Given the description of an element on the screen output the (x, y) to click on. 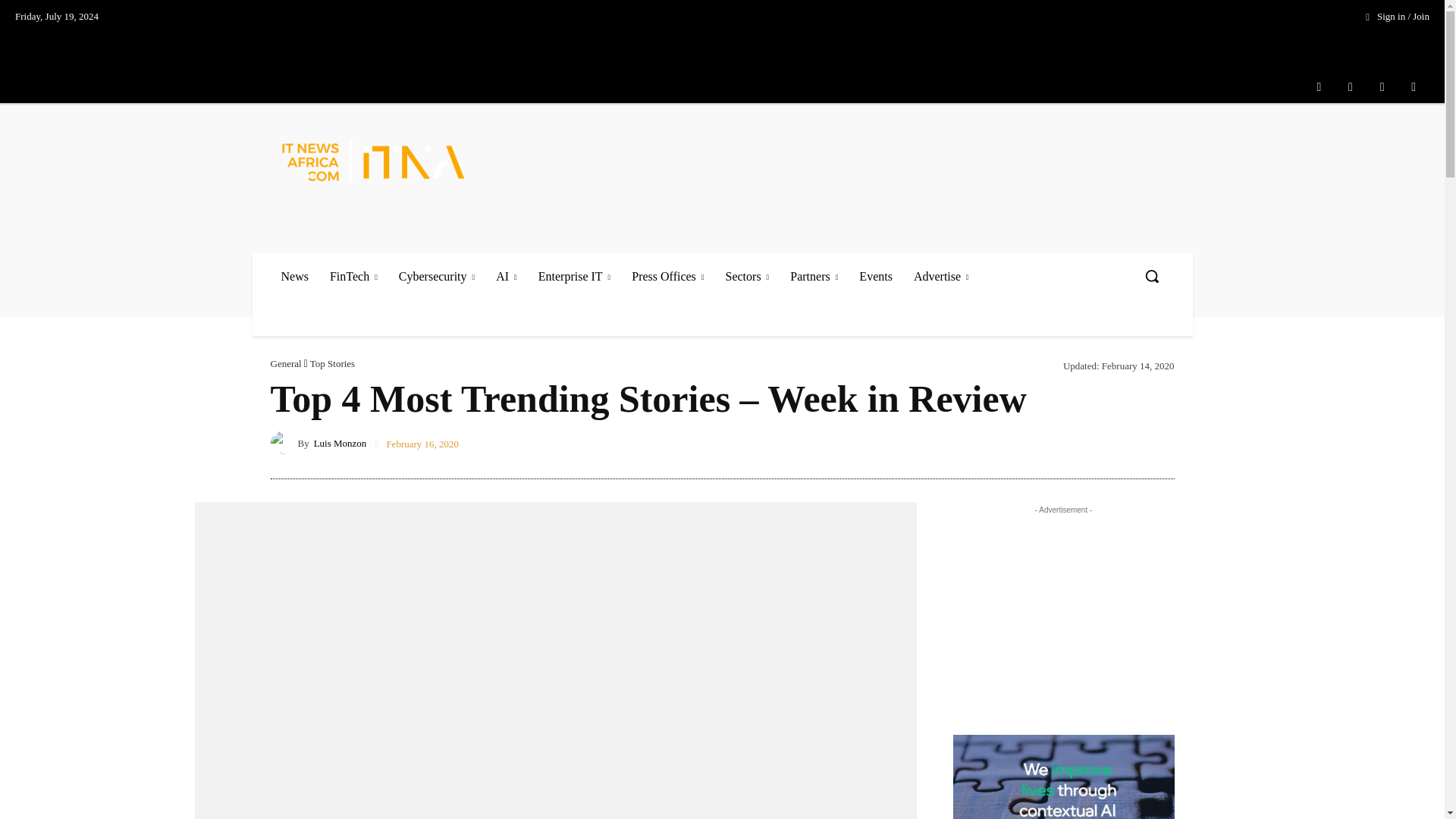
FinTech (353, 276)
IT News Africa (379, 161)
IT News Africa (373, 161)
Instagram (1351, 87)
News (293, 276)
Youtube (1413, 87)
Facebook (1319, 87)
Twitter (1382, 87)
